Given the description of an element on the screen output the (x, y) to click on. 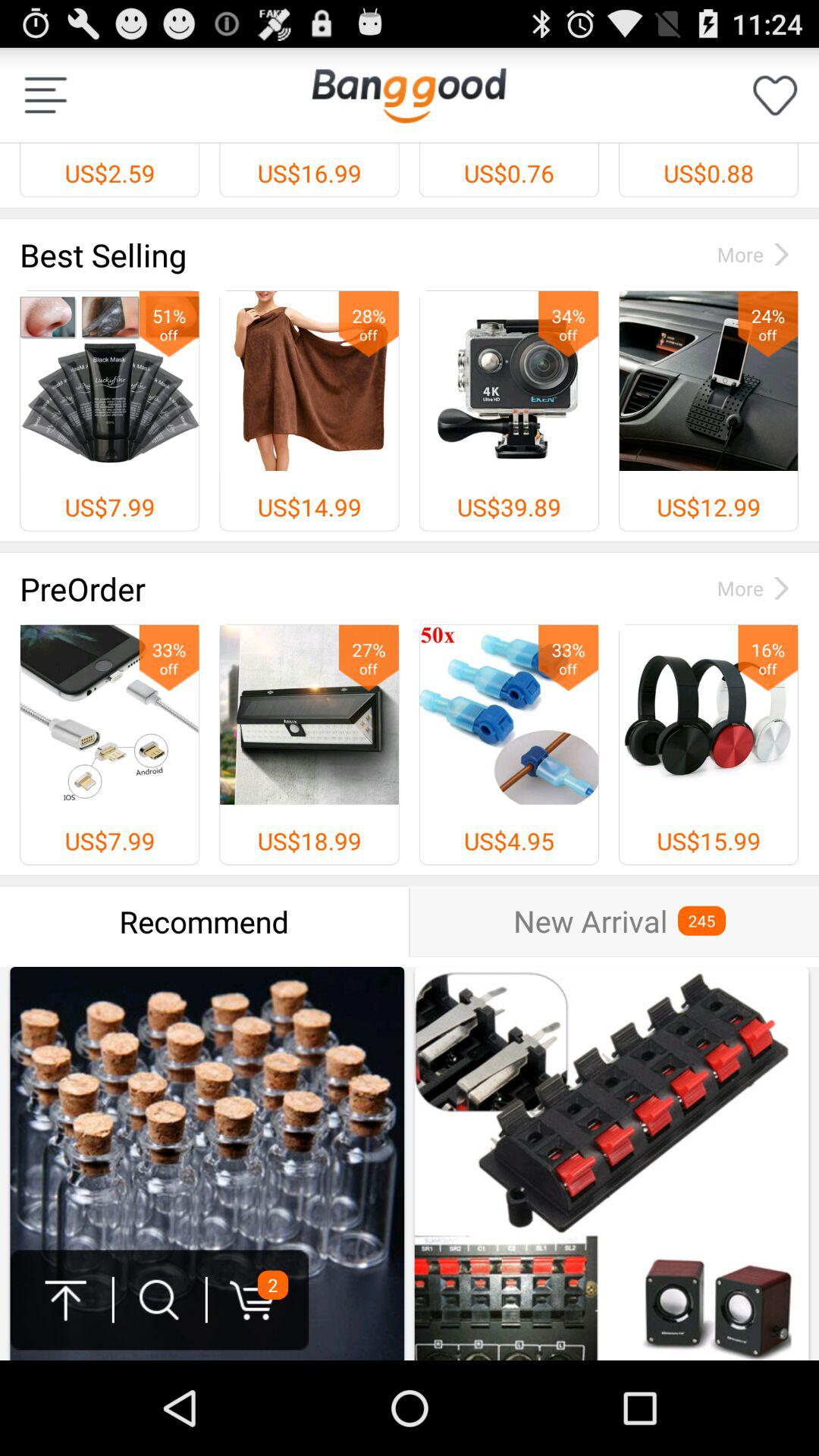
select the recommend item (204, 921)
